Given the description of an element on the screen output the (x, y) to click on. 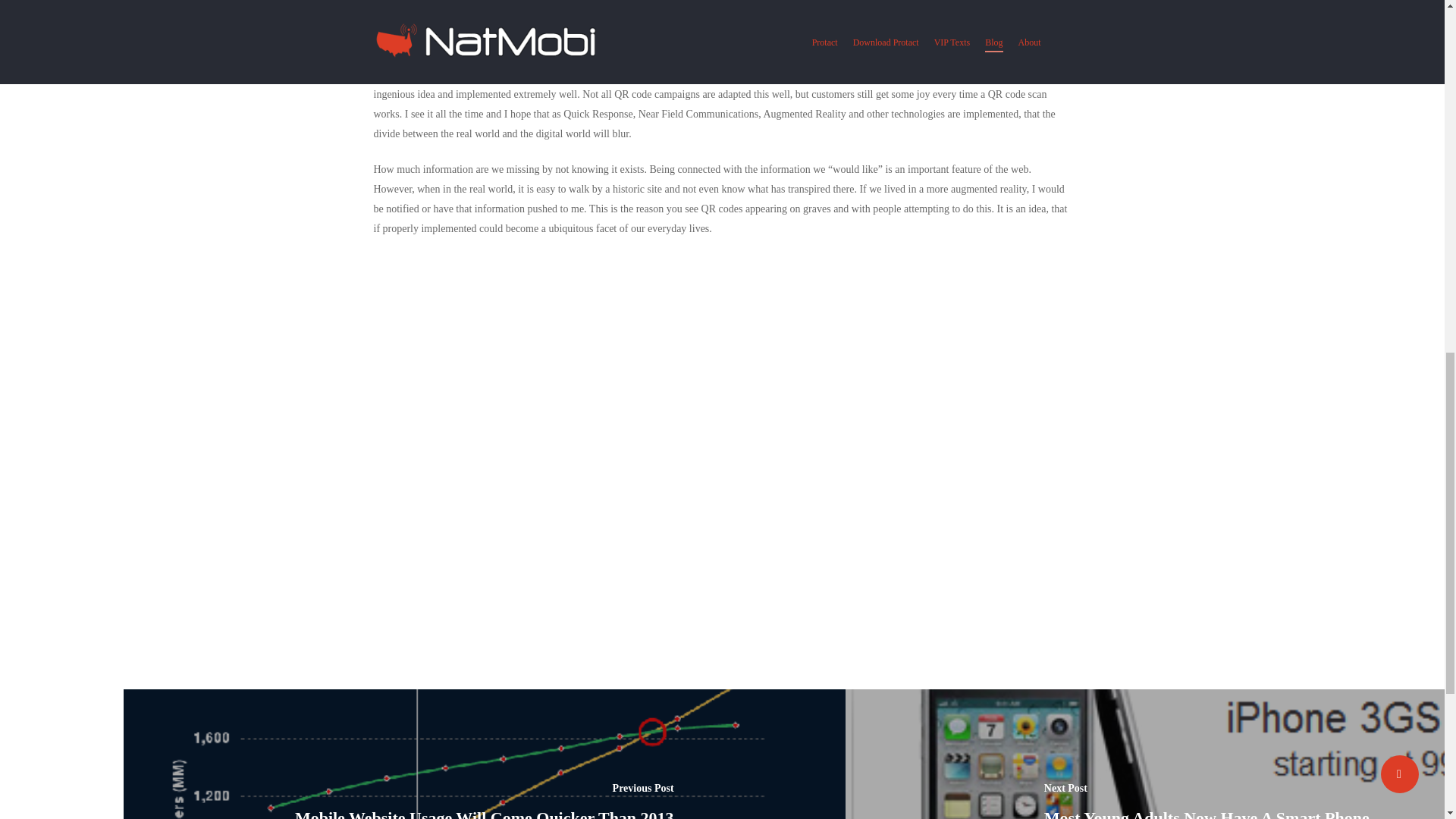
qr code shopping grocery (602, 20)
